Given the description of an element on the screen output the (x, y) to click on. 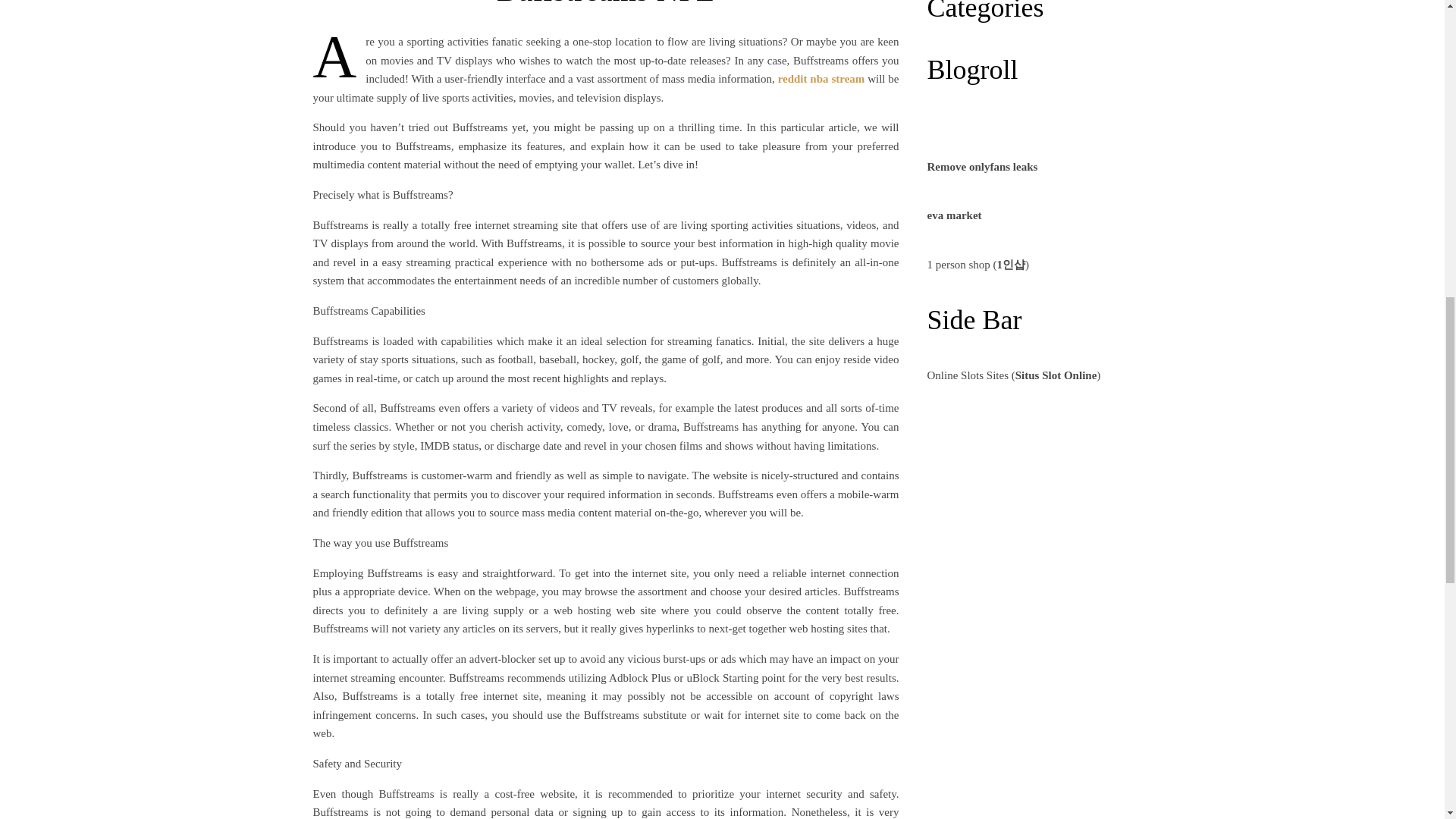
Situs Slot Online (1055, 375)
eva market (953, 215)
Remove onlyfans leaks (981, 166)
reddit nba stream (820, 78)
